Given the description of an element on the screen output the (x, y) to click on. 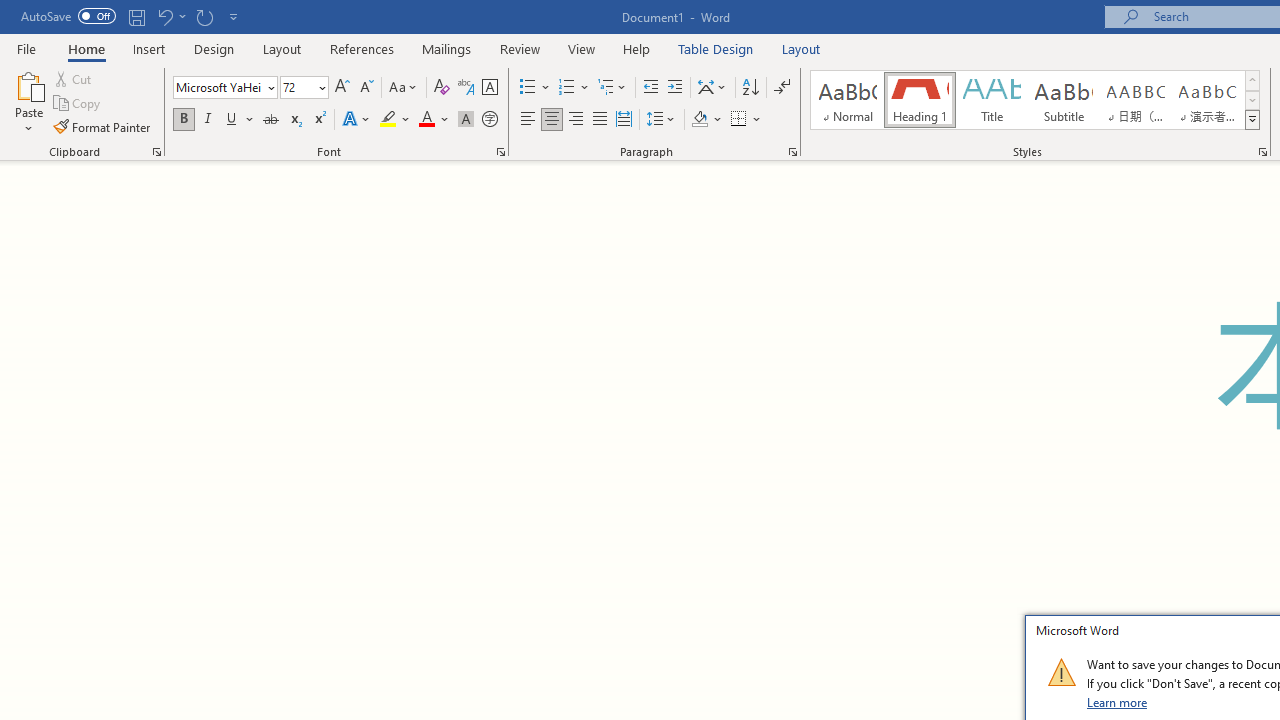
Font Color Red (426, 119)
